Given the description of an element on the screen output the (x, y) to click on. 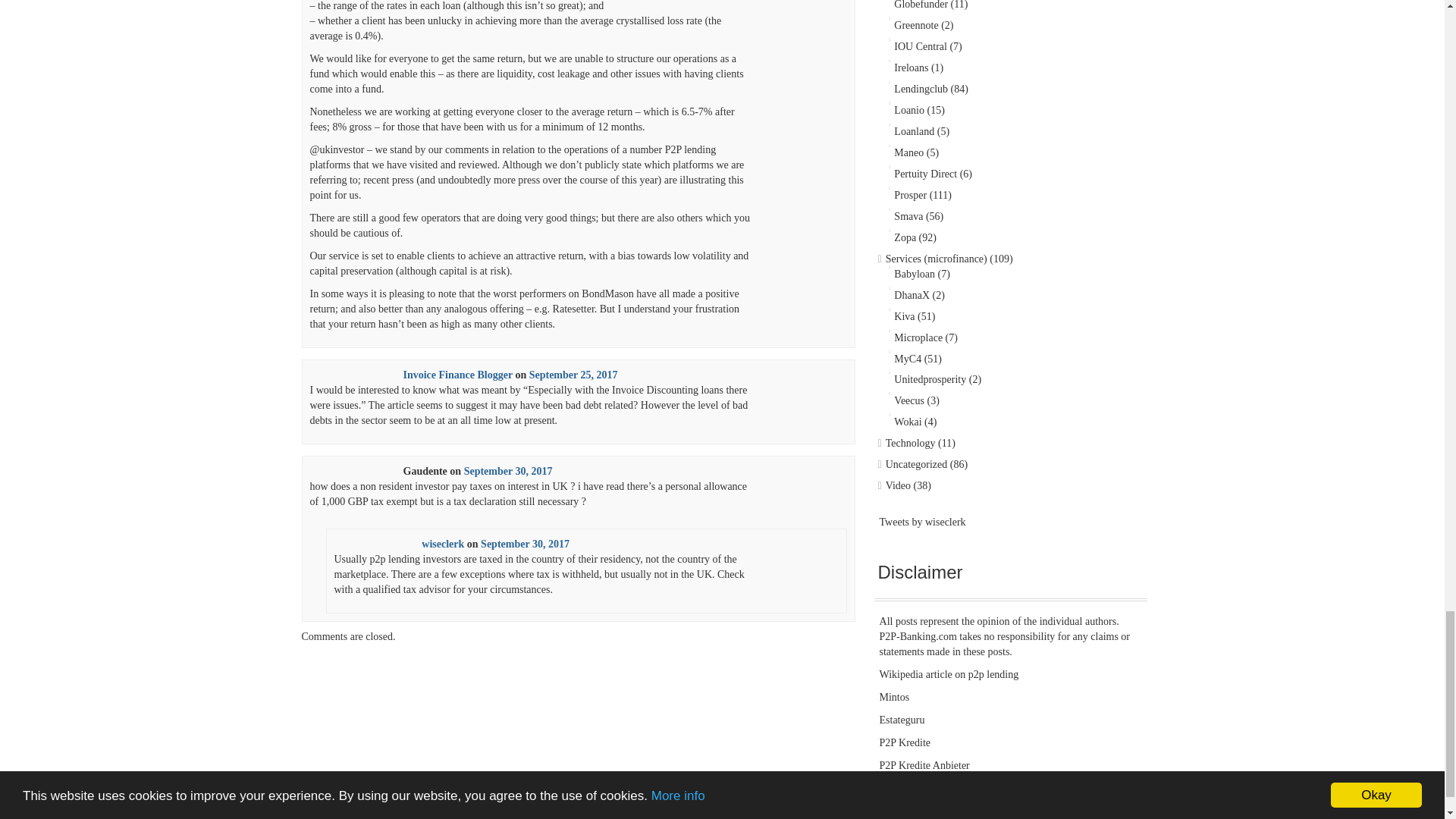
September 30, 2017 (508, 471)
wiseclerk (443, 543)
September 25, 2017 (573, 374)
Invoice Finance Blogger (457, 374)
September 30, 2017 (524, 543)
